Given the description of an element on the screen output the (x, y) to click on. 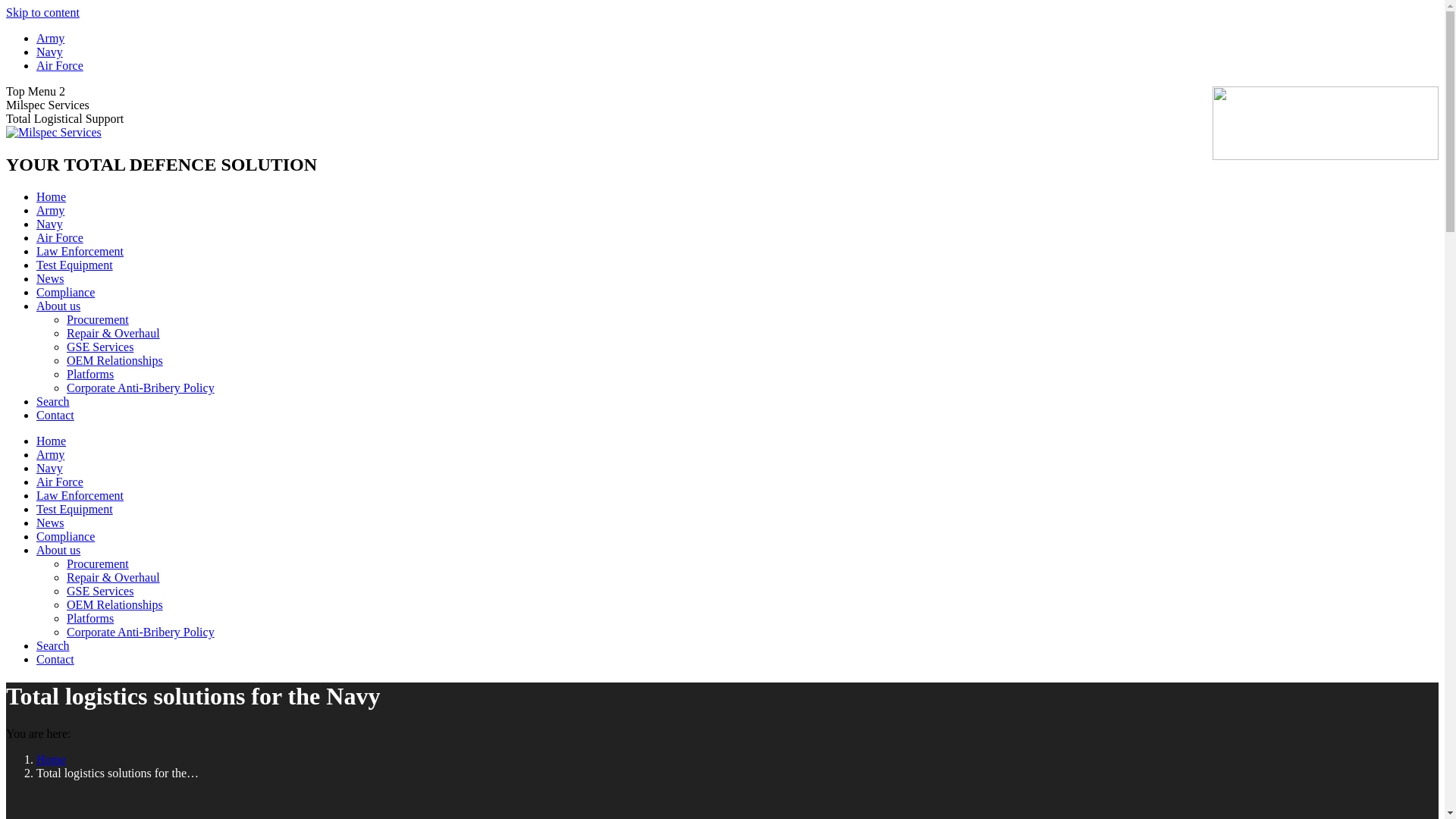
Contact Element type: text (55, 414)
Corporate Anti-Bribery Policy Element type: text (140, 387)
Search Element type: text (52, 401)
Search Element type: text (52, 645)
Navy Element type: text (49, 51)
Procurement Element type: text (97, 563)
Repair & Overhaul Element type: text (113, 577)
Compliance Element type: text (65, 291)
Home Element type: text (50, 440)
OEM Relationships Element type: text (114, 604)
Repair & Overhaul Element type: text (113, 332)
News Element type: text (49, 522)
OEM Relationships Element type: text (114, 360)
Air Force Element type: text (59, 65)
Test Equipment Element type: text (74, 508)
Navy Element type: text (49, 467)
Platforms Element type: text (89, 373)
Test Equipment Element type: text (74, 264)
Army Element type: text (50, 209)
GSE Services Element type: text (99, 590)
Platforms Element type: text (89, 617)
Corporate Anti-Bribery Policy Element type: text (140, 631)
News Element type: text (49, 278)
Compliance Element type: text (65, 536)
Contact Element type: text (55, 658)
Army Element type: text (50, 454)
Law Enforcement Element type: text (79, 495)
Navy Element type: text (49, 223)
Army Element type: text (50, 37)
Air Force Element type: text (59, 481)
GSE Services Element type: text (99, 346)
About us Element type: text (58, 305)
Home Element type: text (50, 759)
About us Element type: text (58, 549)
Law Enforcement Element type: text (79, 250)
Home Element type: text (50, 196)
Skip to content Element type: text (42, 12)
Air Force Element type: text (59, 237)
Procurement Element type: text (97, 319)
